Given the description of an element on the screen output the (x, y) to click on. 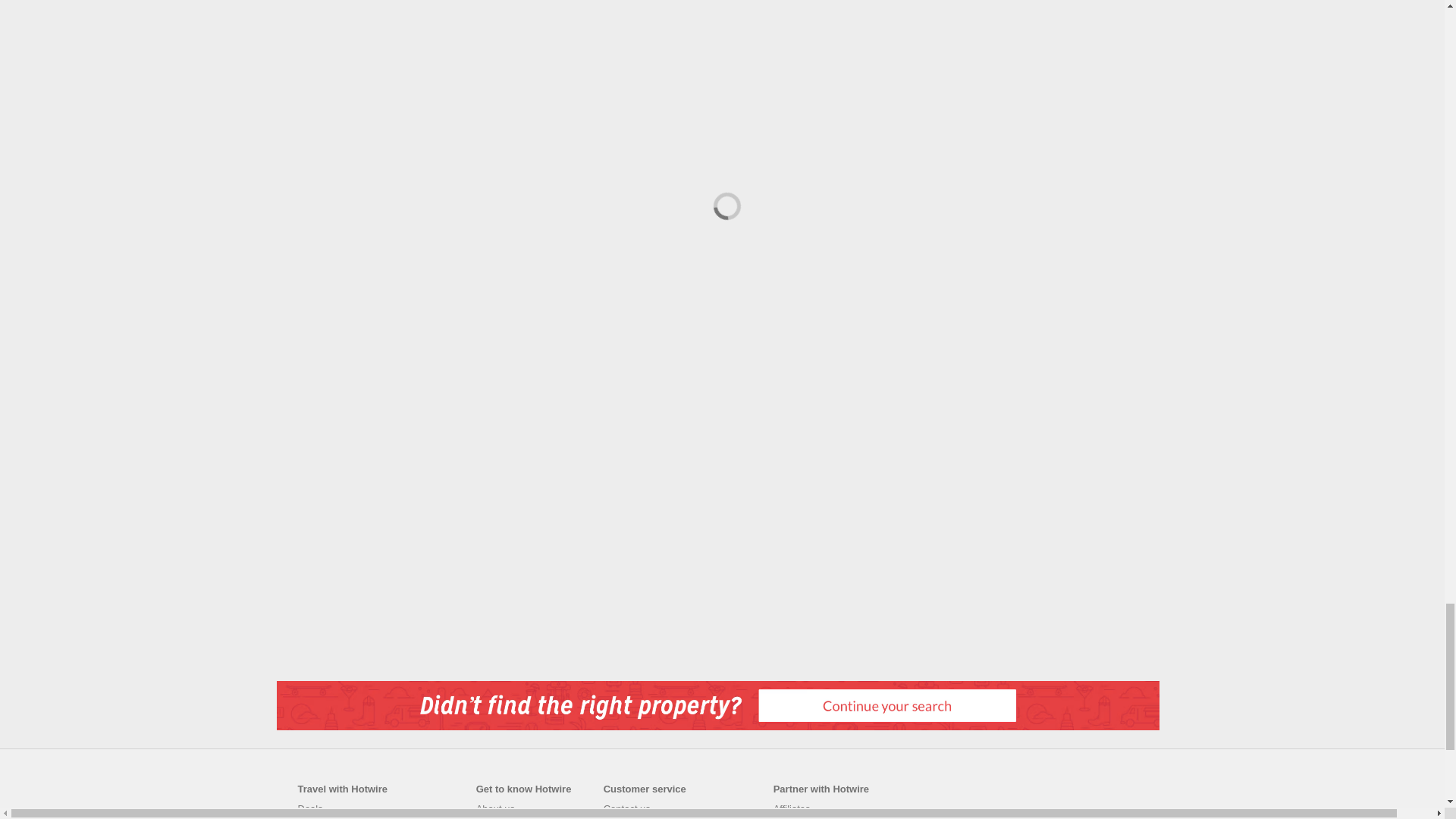
Loading... (722, 202)
